Given the description of an element on the screen output the (x, y) to click on. 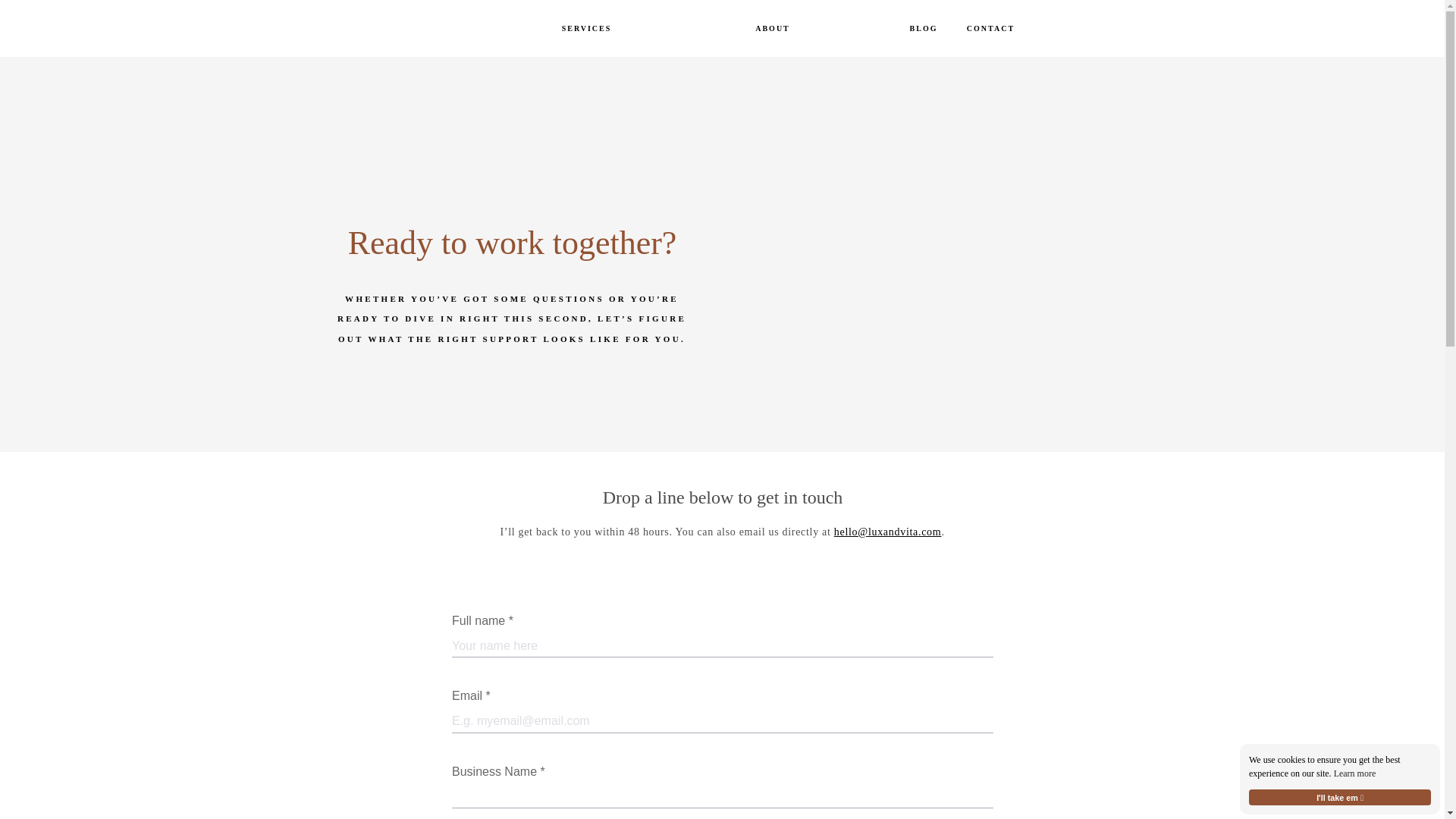
BLOG (922, 28)
SERVICES (586, 28)
Learn more (1354, 773)
ABOUT (772, 28)
CONTACT (990, 28)
